Given the description of an element on the screen output the (x, y) to click on. 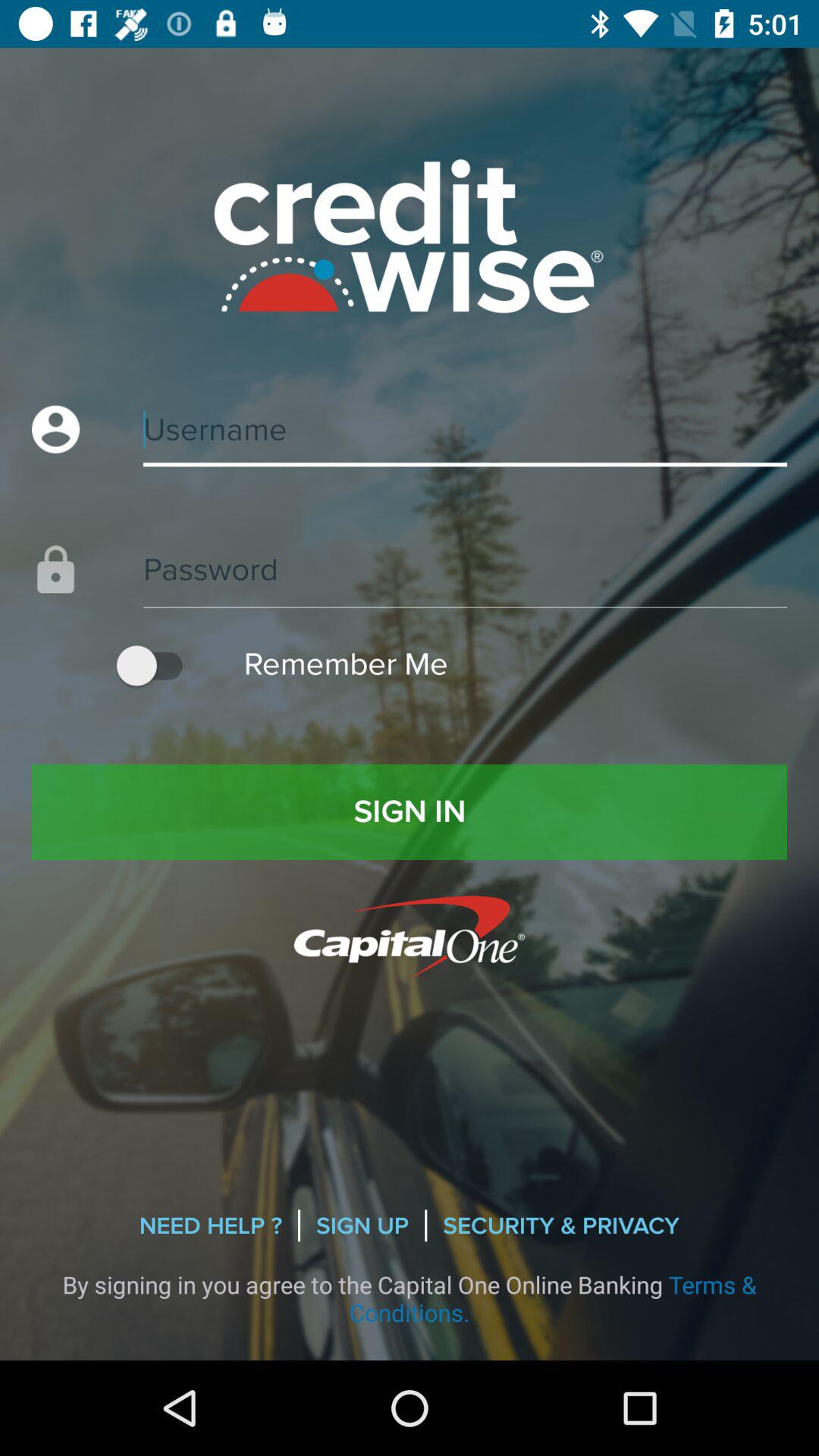
jump to sign in icon (409, 811)
